Given the description of an element on the screen output the (x, y) to click on. 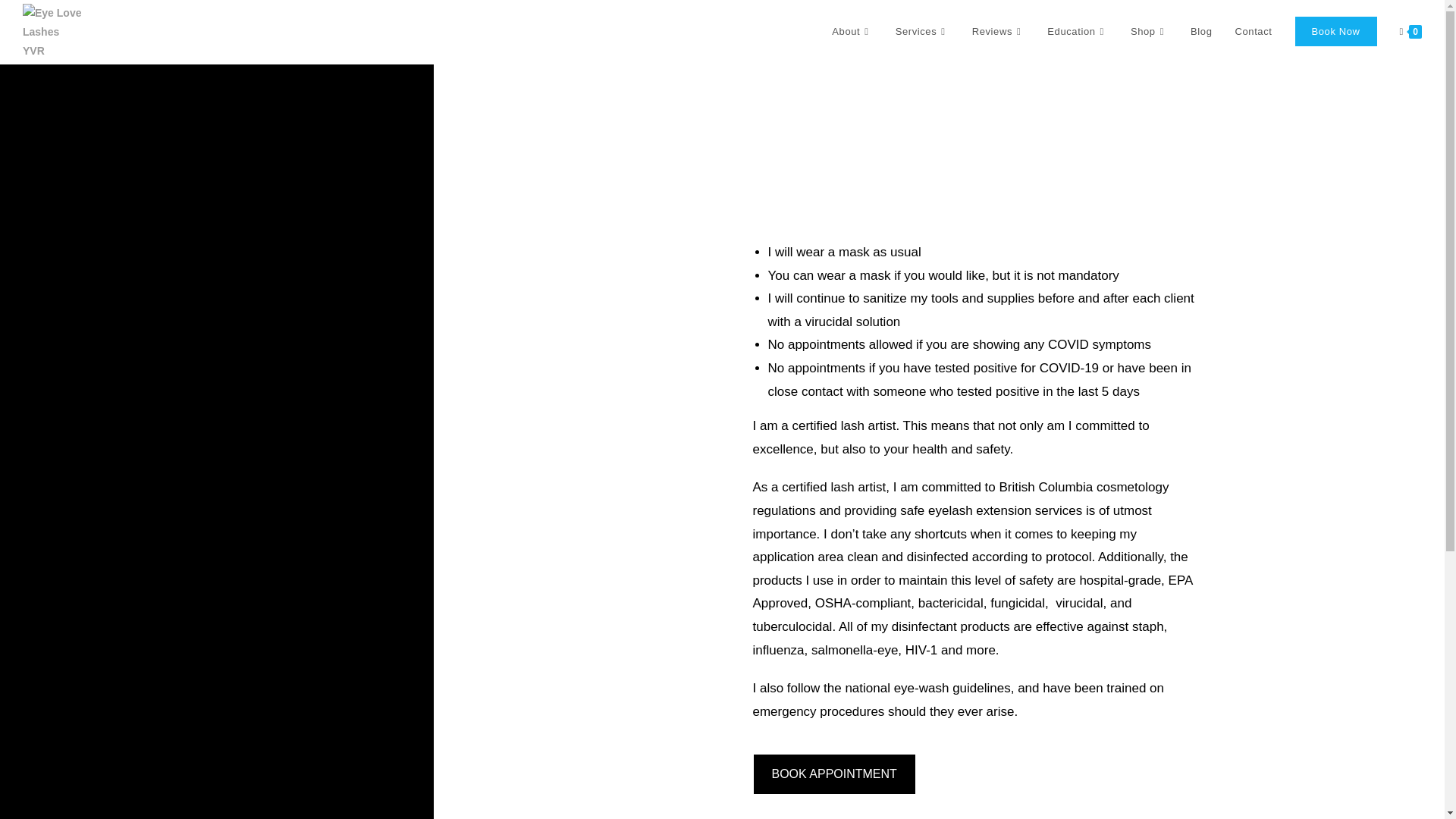
Reviews (998, 31)
Services (921, 31)
Book Now (1334, 31)
Shop (1149, 31)
Contact (1252, 31)
Education (1077, 31)
About (852, 31)
